Given the description of an element on the screen output the (x, y) to click on. 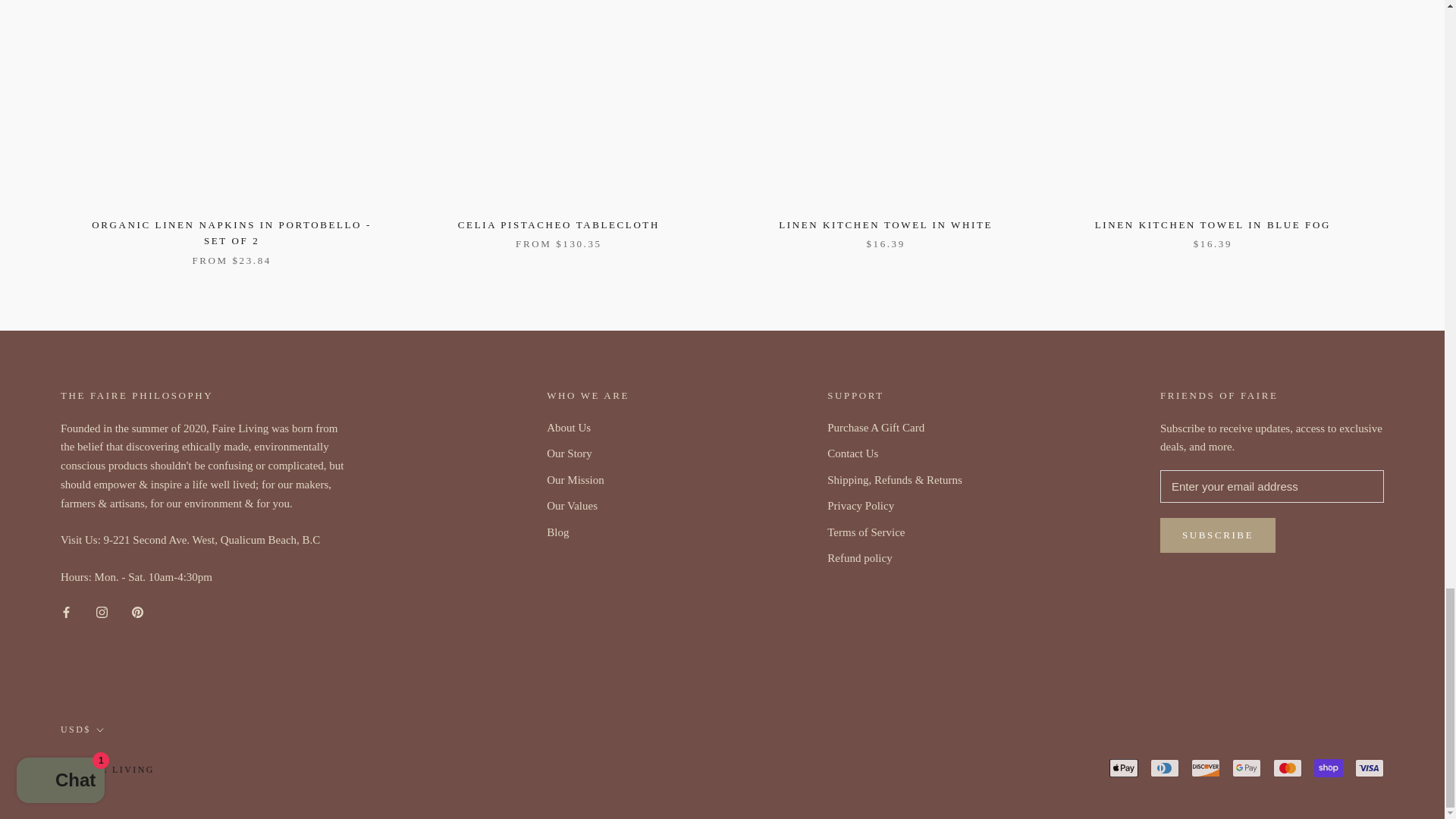
Discover (1205, 768)
Google Pay (1245, 768)
Apple Pay (1123, 768)
Visa (1369, 768)
Diners Club (1164, 768)
Mastercard (1286, 768)
Shop Pay (1328, 768)
